Given the description of an element on the screen output the (x, y) to click on. 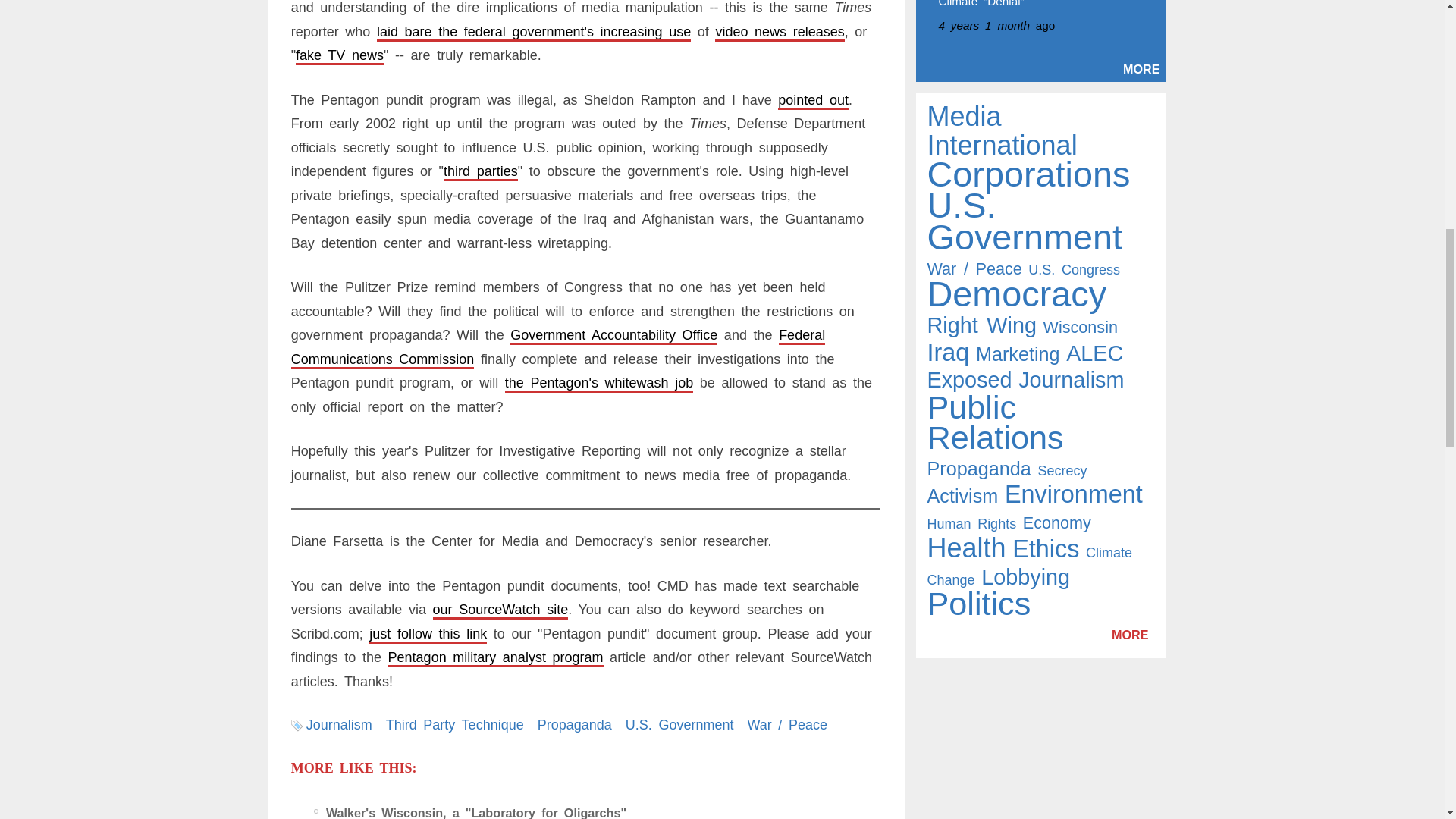
fake TV news (339, 55)
laid bare the federal government's increasing use (533, 31)
Pentagon military analyst program (496, 657)
just follow this link (427, 633)
Government Accountability Office (614, 335)
third parties (481, 171)
pointed out (812, 99)
Federal Communications Commission (558, 346)
the Pentagon's whitewash job (599, 382)
our SourceWatch site (500, 609)
